Given the description of an element on the screen output the (x, y) to click on. 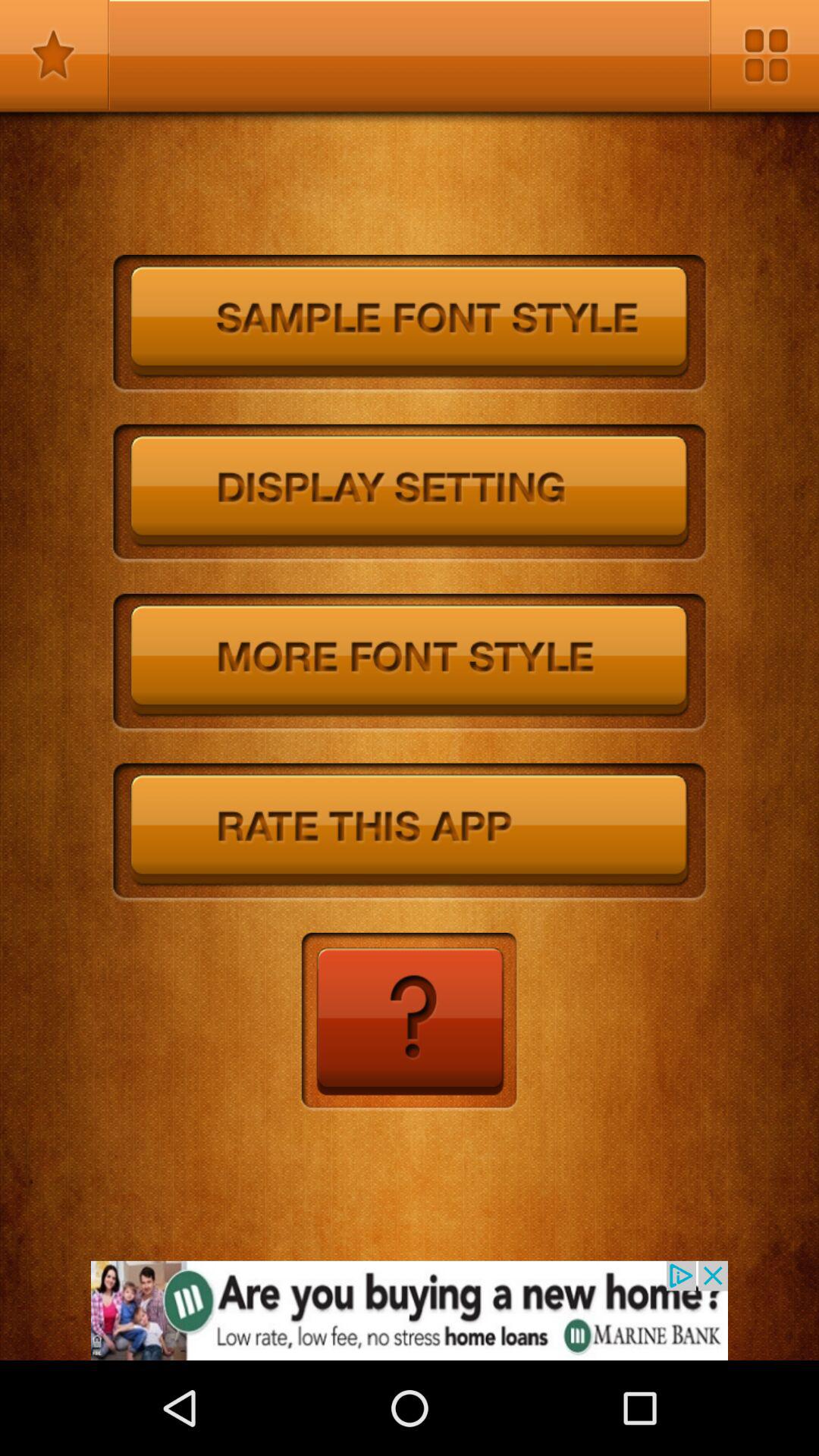
rate this app (409, 832)
